Given the description of an element on the screen output the (x, y) to click on. 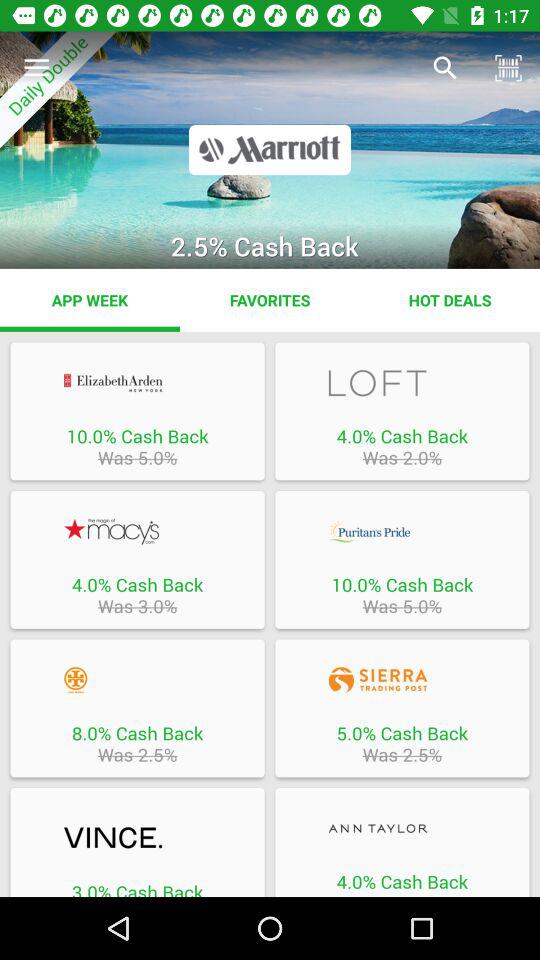
click the item next to daily double (444, 67)
